Given the description of an element on the screen output the (x, y) to click on. 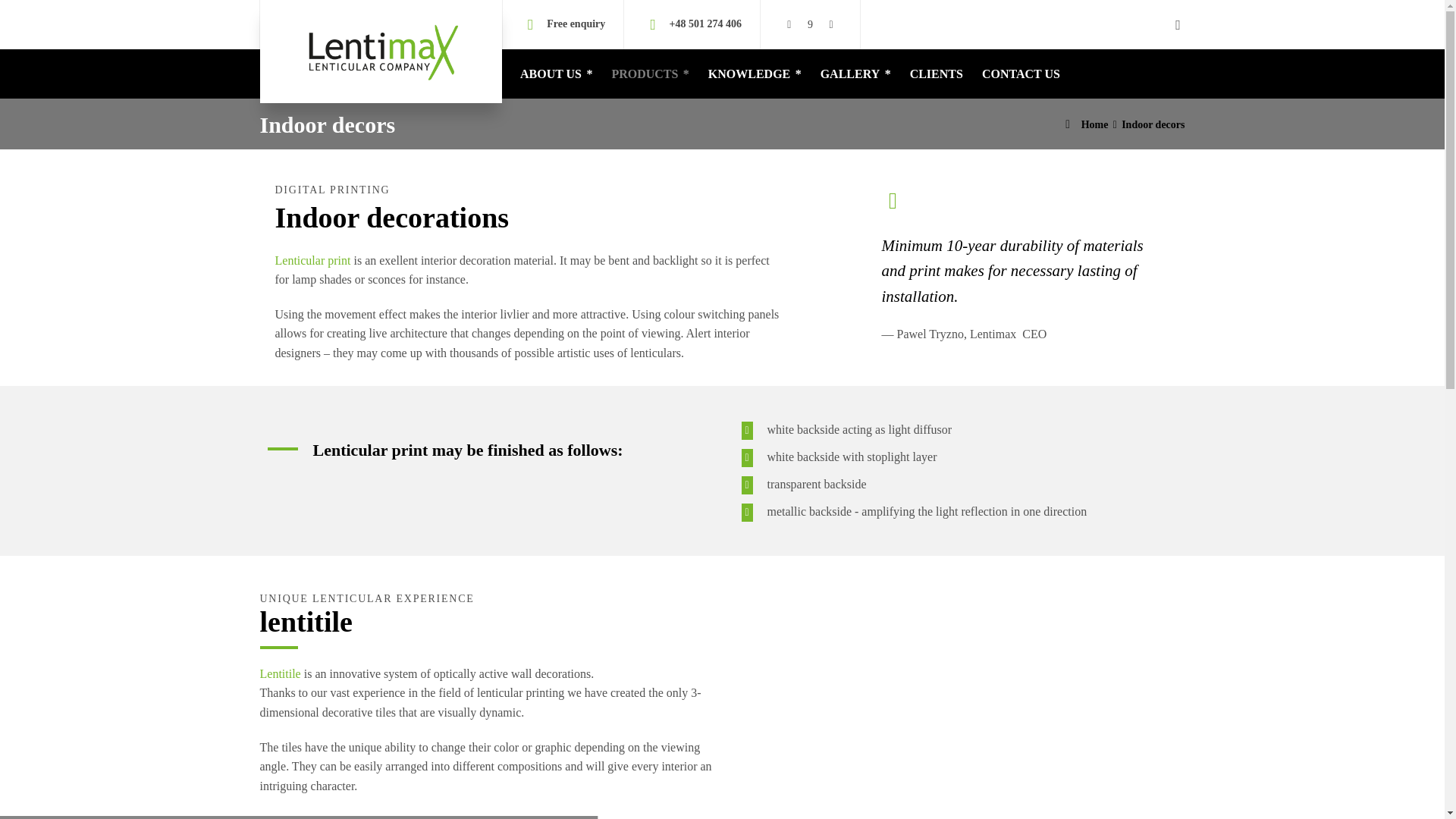
Send us free enquiry (576, 23)
Free enquiry (576, 23)
YouTube (831, 24)
Lentimax - Lenticular Company (379, 51)
ABOUT US (556, 73)
Email (788, 24)
click to call (705, 23)
PRODUCTS (650, 73)
Facebook (810, 24)
KNOWLEDGE (754, 73)
